Given the description of an element on the screen output the (x, y) to click on. 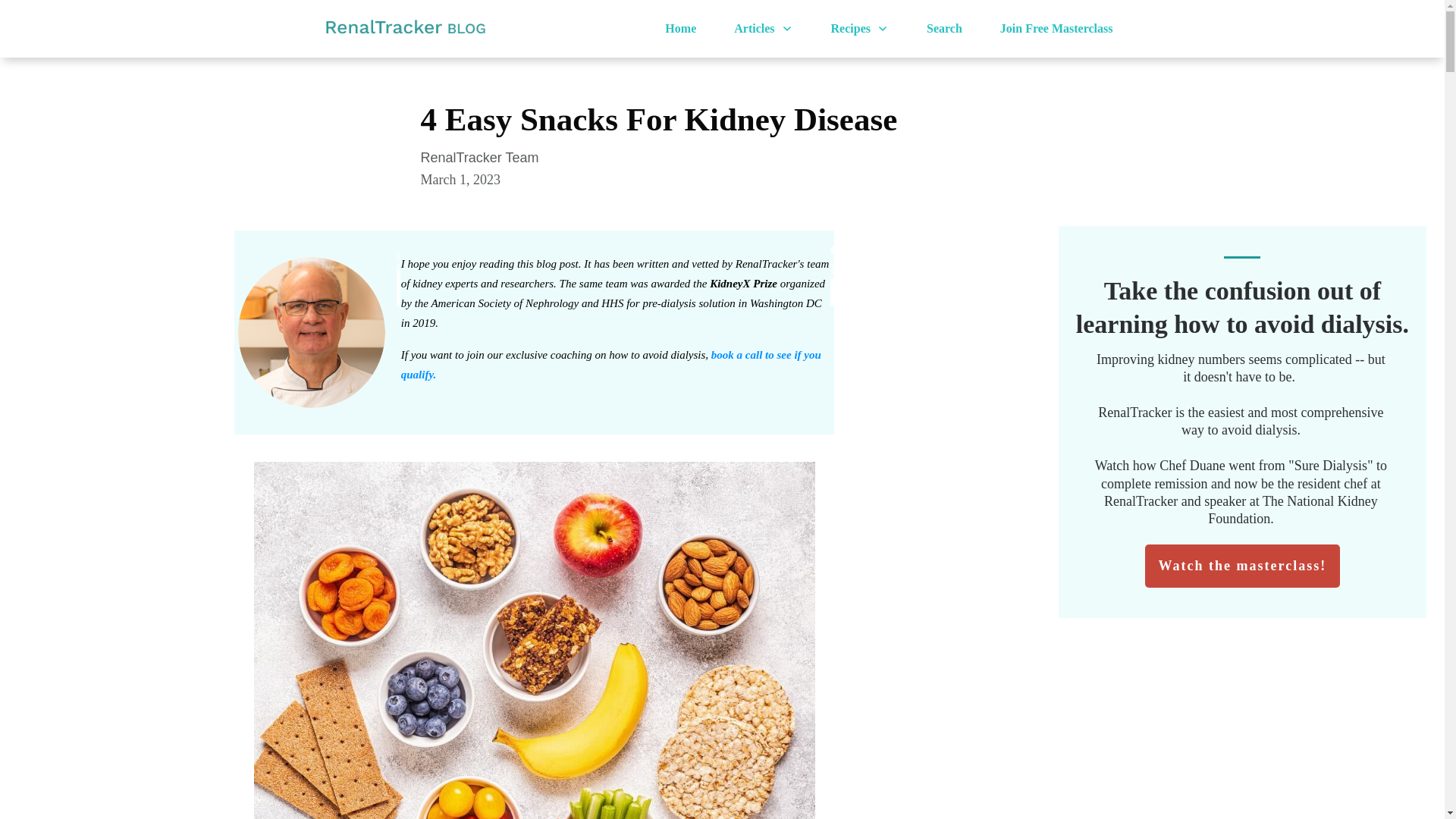
Join Free Masterclass (1056, 28)
4 Easy Snacks For Kidney Disease (658, 119)
Home (680, 28)
guy 4 (311, 332)
4 Easy Snacks For Kidney Disease (658, 119)
Watch the masterclass! (1242, 566)
Search (944, 28)
Articles (762, 28)
free-masterclass (1056, 28)
book a call to see if you qualify. (611, 364)
Recipes (859, 28)
